Given the description of an element on the screen output the (x, y) to click on. 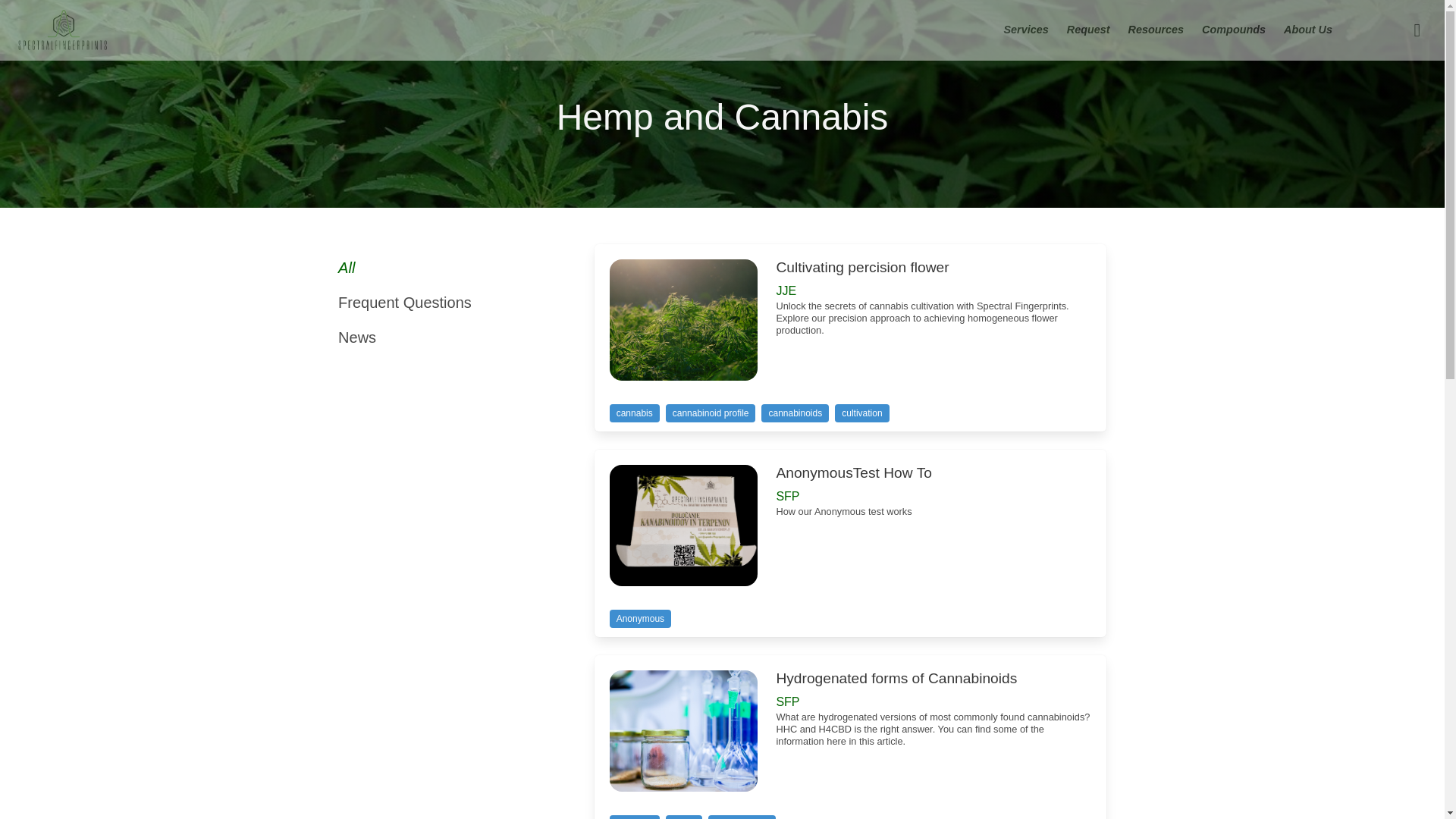
Services (1026, 30)
Request (1088, 30)
Compounds (1233, 30)
About Us (1307, 30)
Resources (1156, 30)
